Given the description of an element on the screen output the (x, y) to click on. 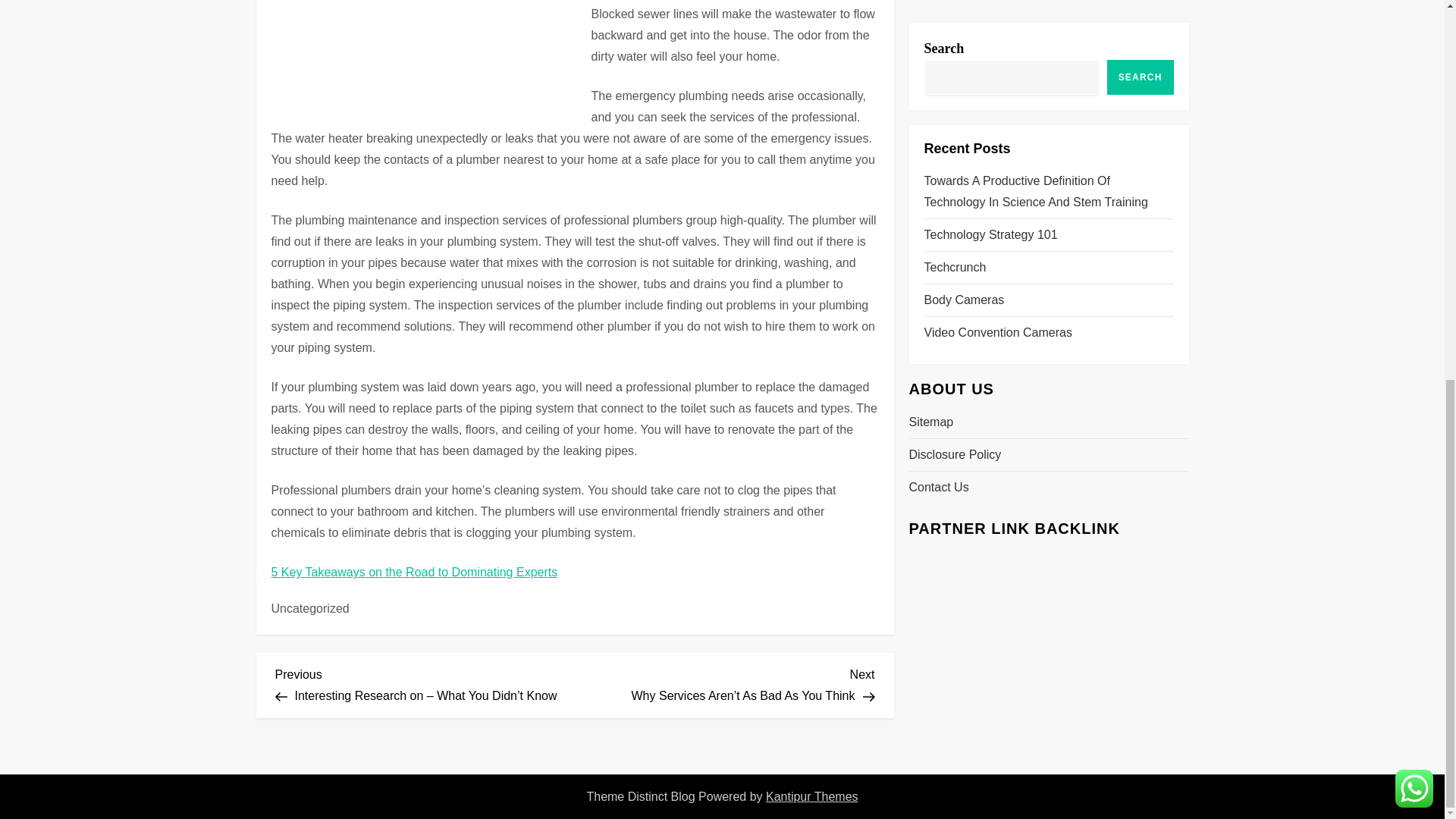
Disclosure Policy (954, 2)
Kantipur Themes (812, 796)
5 Key Takeaways on the Road to Dominating Experts (413, 571)
Contact Us (938, 25)
